Given the description of an element on the screen output the (x, y) to click on. 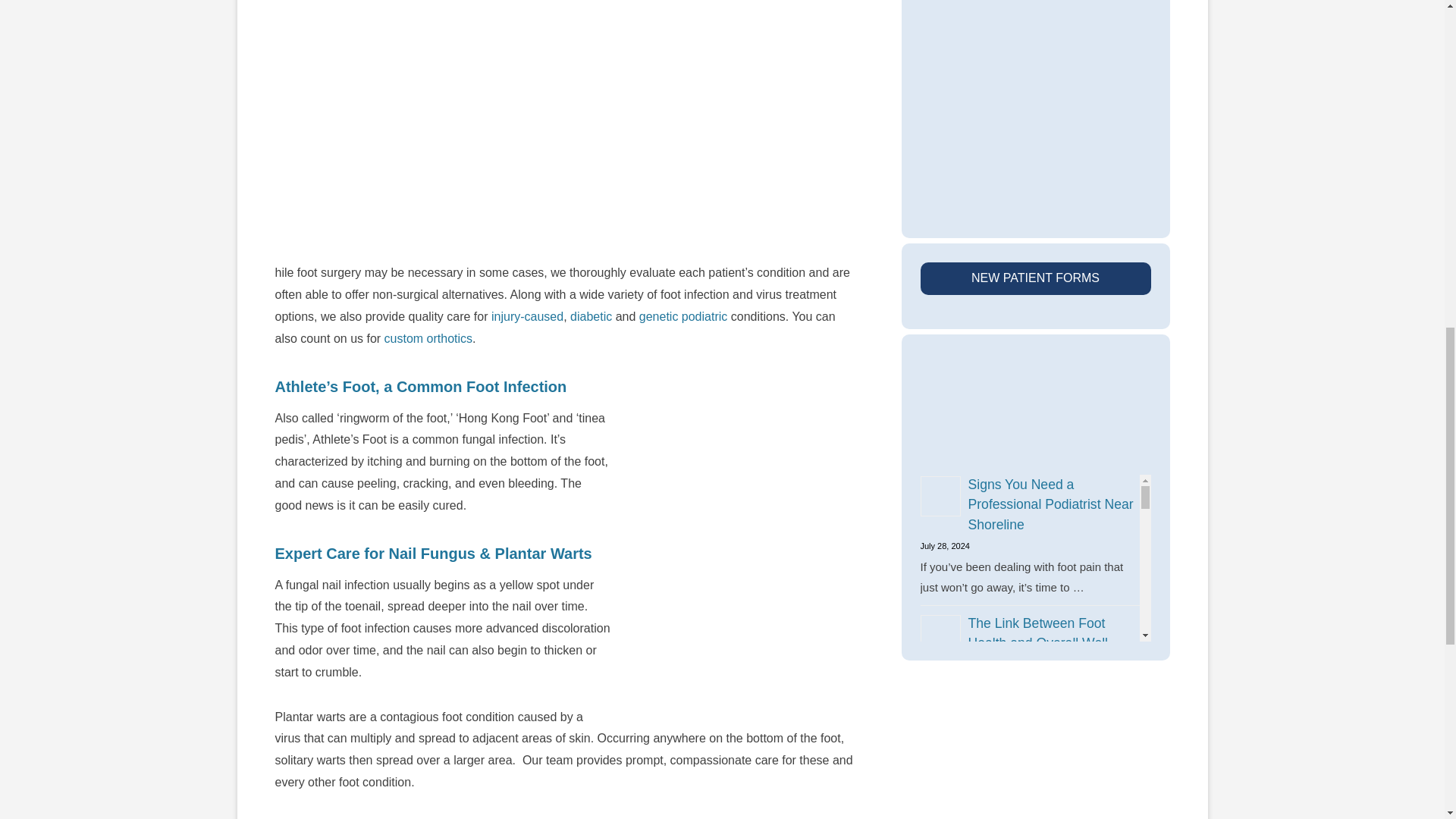
genetic podiatric (683, 316)
NEW PATIENT FORMS (1035, 278)
diabetic (590, 316)
injury-caused (527, 316)
Signs You Need a Professional Podiatrist Near Shoreline (1050, 504)
custom orthotics (427, 338)
